Given the description of an element on the screen output the (x, y) to click on. 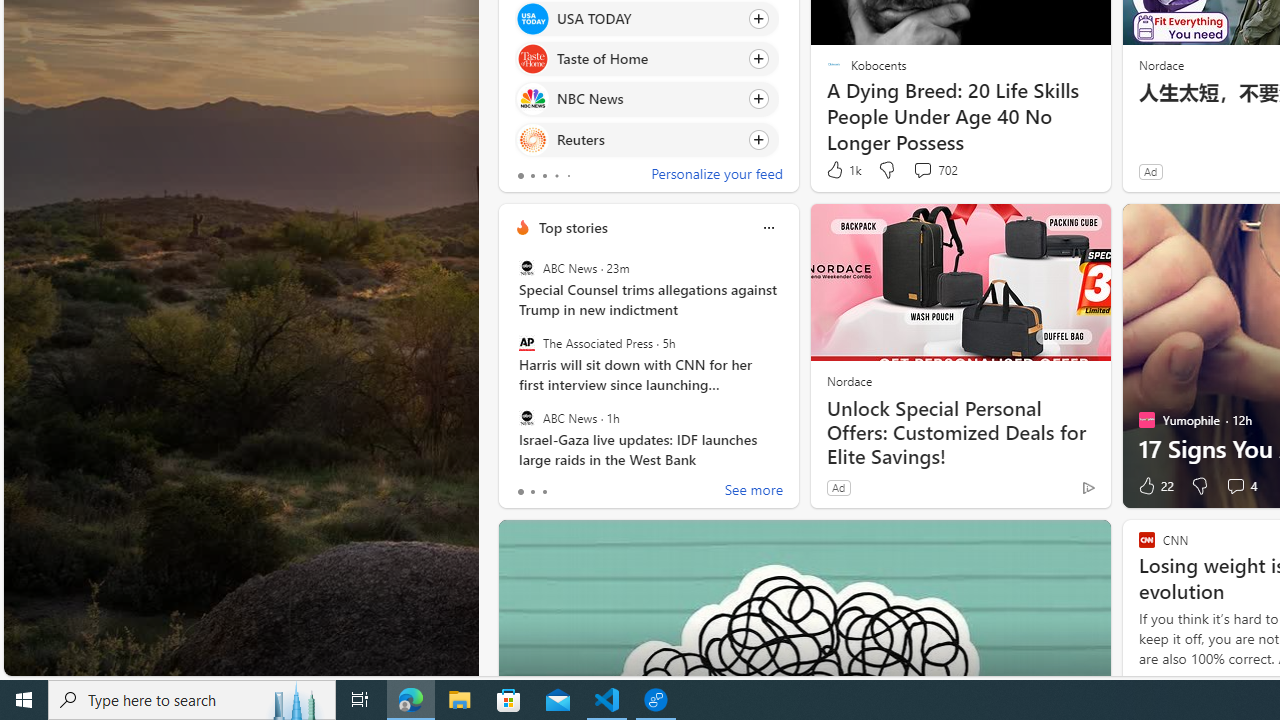
tab-2 (543, 491)
NBC News (532, 98)
tab-3 (556, 175)
View comments 4 Comment (1240, 485)
View comments 702 Comment (934, 170)
Top stories (572, 227)
Click to follow source USA TODAY (646, 18)
ABC News (526, 417)
tab-0 (520, 491)
Reuters (532, 139)
Taste of Home (532, 59)
Click to follow source Reuters (646, 138)
